Given the description of an element on the screen output the (x, y) to click on. 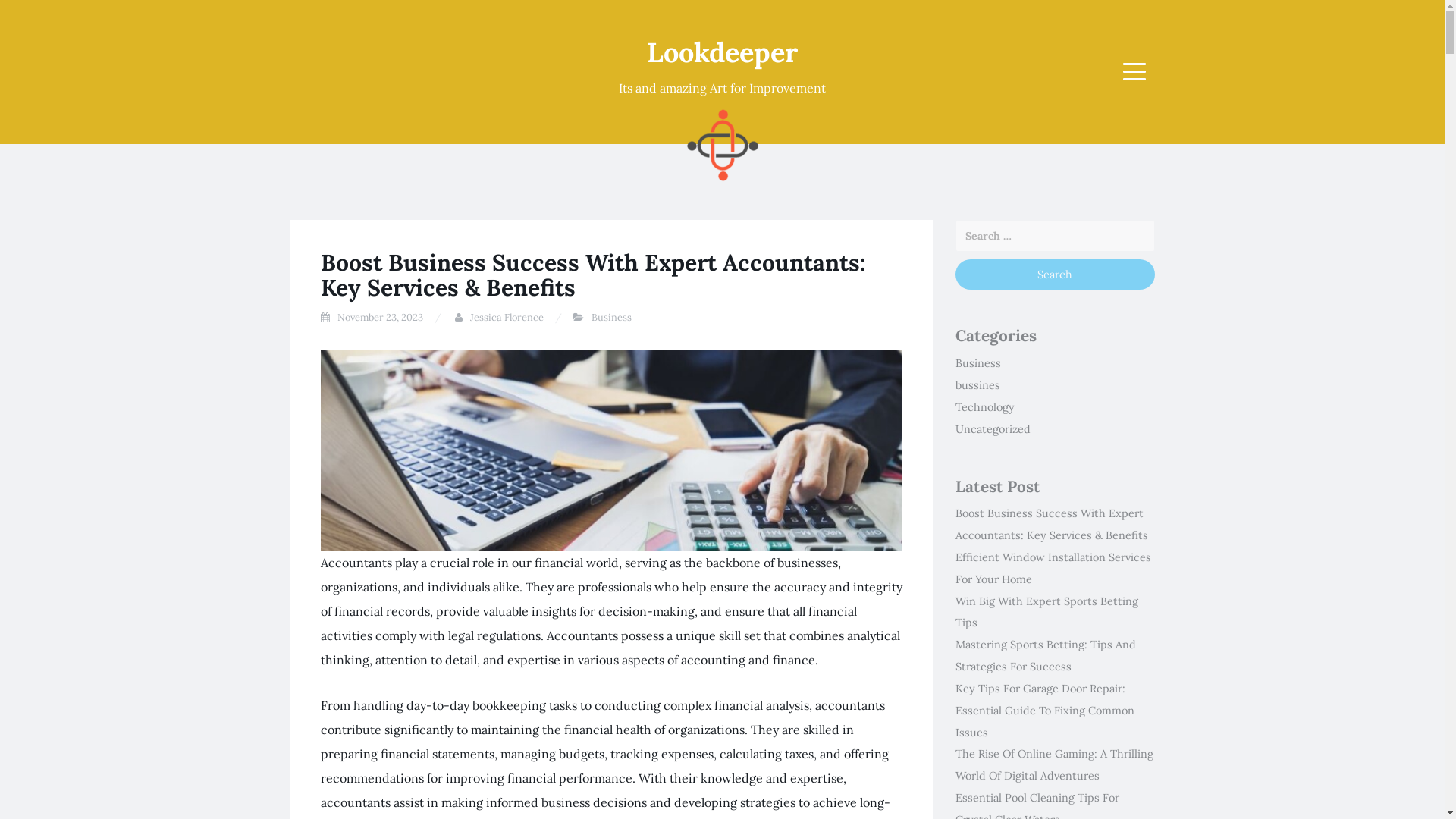
Search Element type: text (1054, 274)
Menu Element type: text (1133, 71)
Business Element type: text (611, 316)
Business Element type: text (978, 363)
Efficient Window Installation Services For Your Home Element type: text (1053, 568)
Lookdeeper Element type: text (721, 51)
Uncategorized Element type: text (992, 429)
Mastering Sports Betting: Tips And Strategies For Success Element type: text (1045, 655)
November 23, 2023 Element type: text (379, 316)
Win Big With Expert Sports Betting Tips Element type: text (1046, 612)
Jessica Florence Element type: text (506, 316)
Technology Element type: text (984, 407)
bussines Element type: text (977, 385)
